Given the description of an element on the screen output the (x, y) to click on. 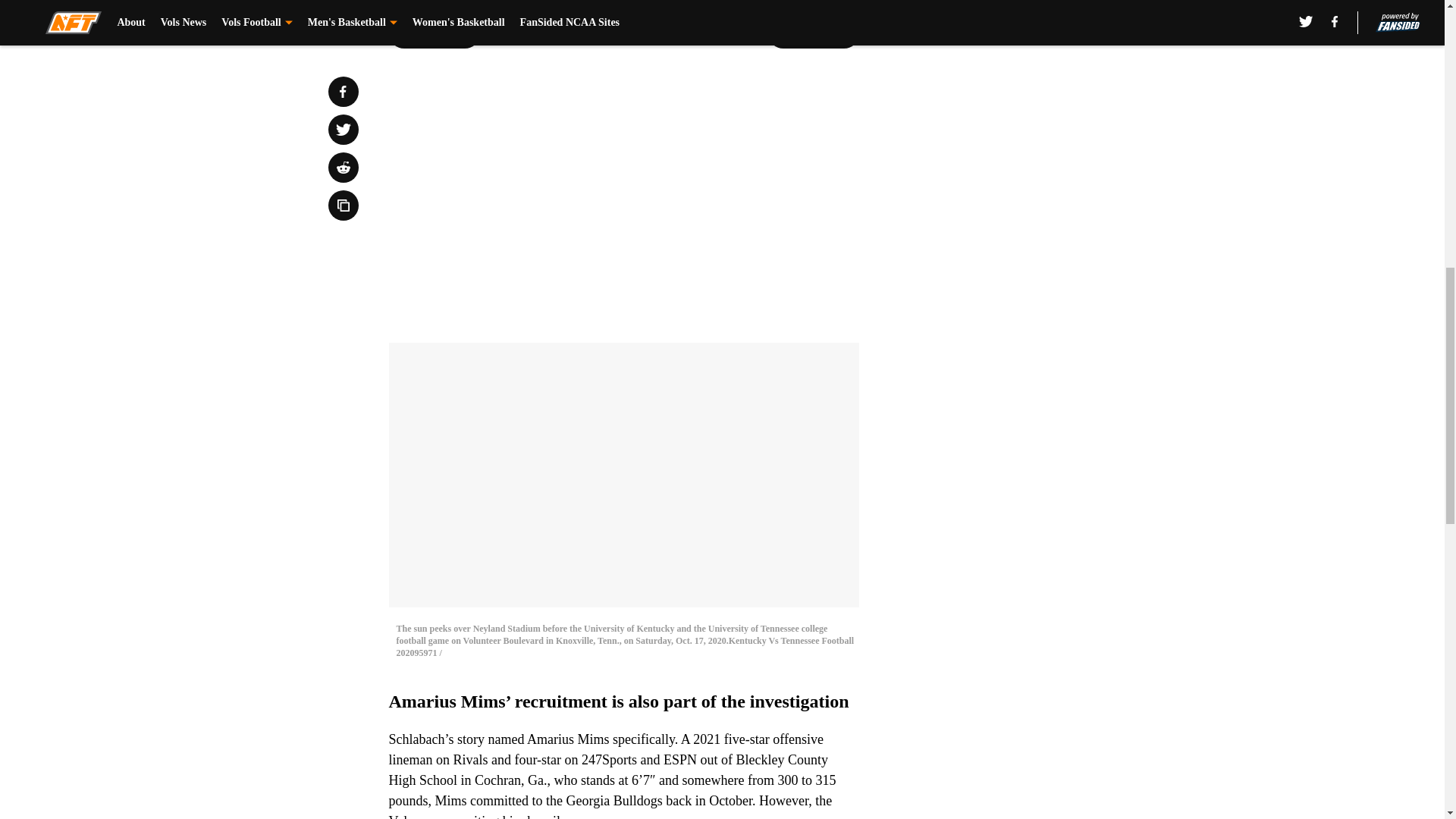
Prev (433, 33)
Next (813, 33)
